Given the description of an element on the screen output the (x, y) to click on. 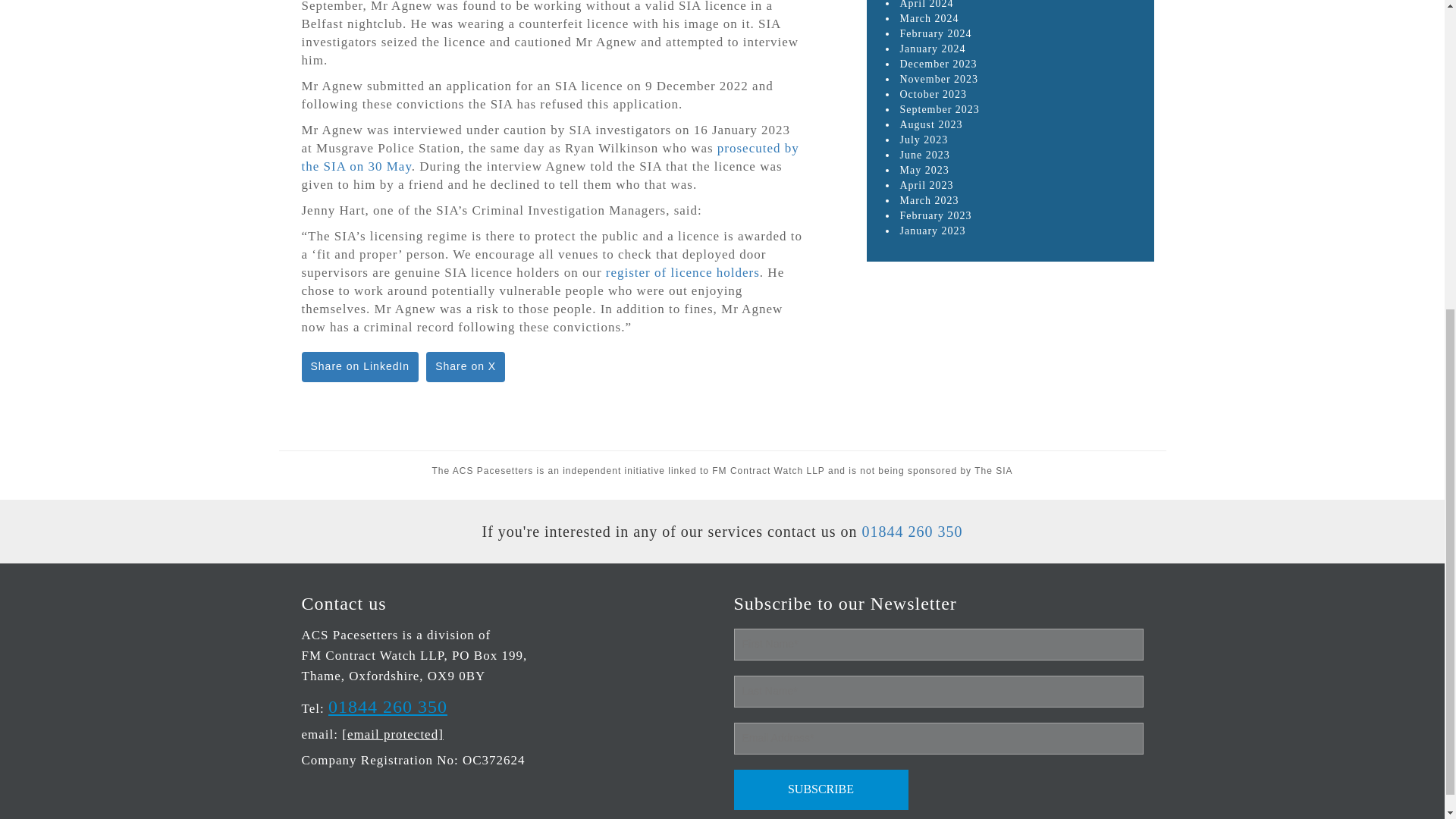
March 2024 (928, 18)
prosecuted by the SIA on 30 May (550, 156)
May 2023 (924, 170)
Share on X (465, 367)
September 2023 (938, 109)
01844 260 350 (911, 531)
July 2023 (923, 139)
February 2024 (935, 33)
register of licence holders (682, 272)
February 2023 (935, 215)
01844 260 350 (387, 706)
November 2023 (938, 79)
Subscribe (820, 789)
April 2023 (926, 184)
December 2023 (937, 63)
